Given the description of an element on the screen output the (x, y) to click on. 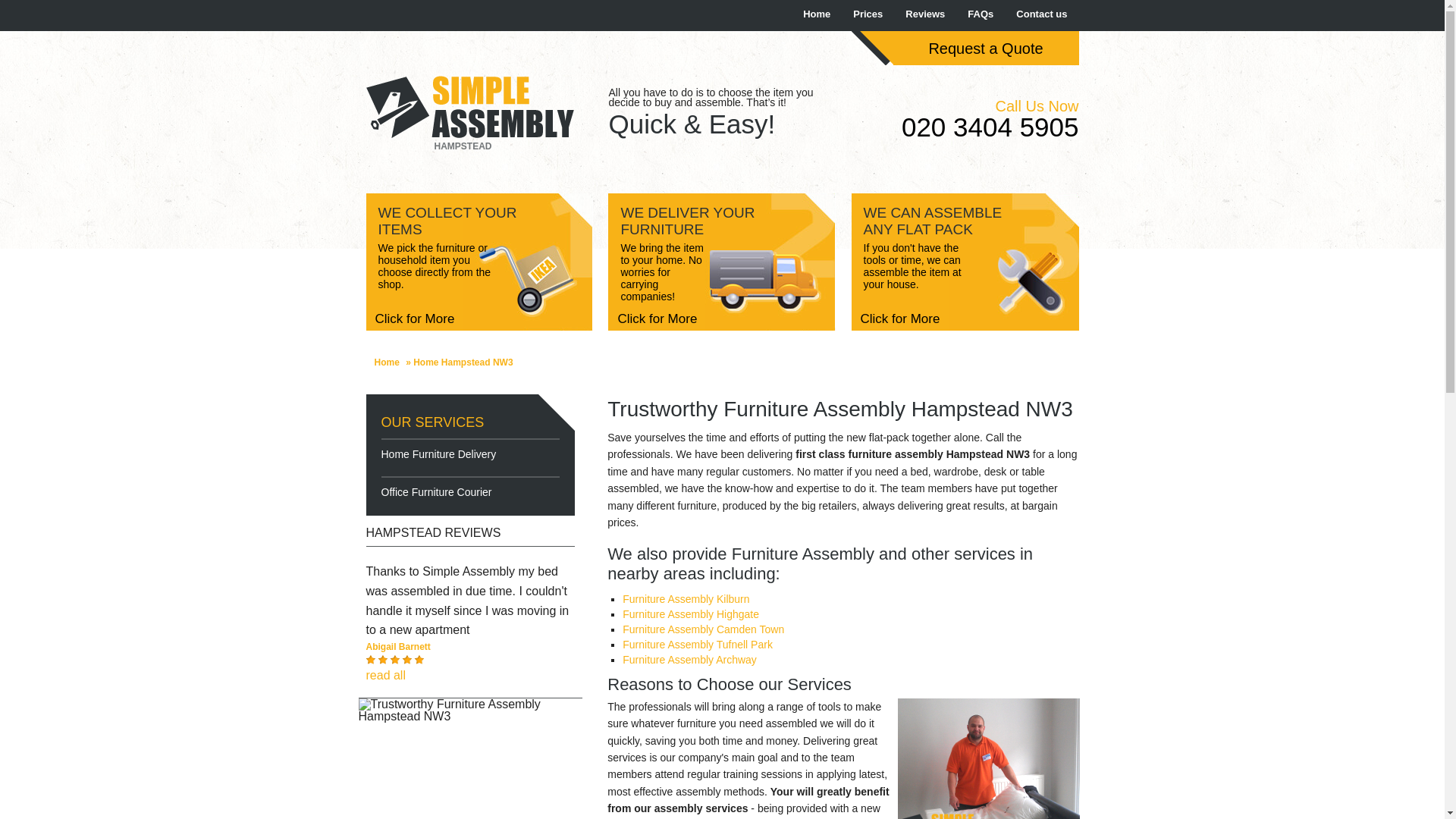
Furniture Assembly Tufnell Park (698, 644)
Home (816, 14)
Contact us (1041, 14)
Prices (867, 14)
Furniture Assembly Archway (690, 659)
Furniture Assembly Camden Town (703, 629)
read all (384, 675)
Office Furniture Courier (469, 490)
